Given the description of an element on the screen output the (x, y) to click on. 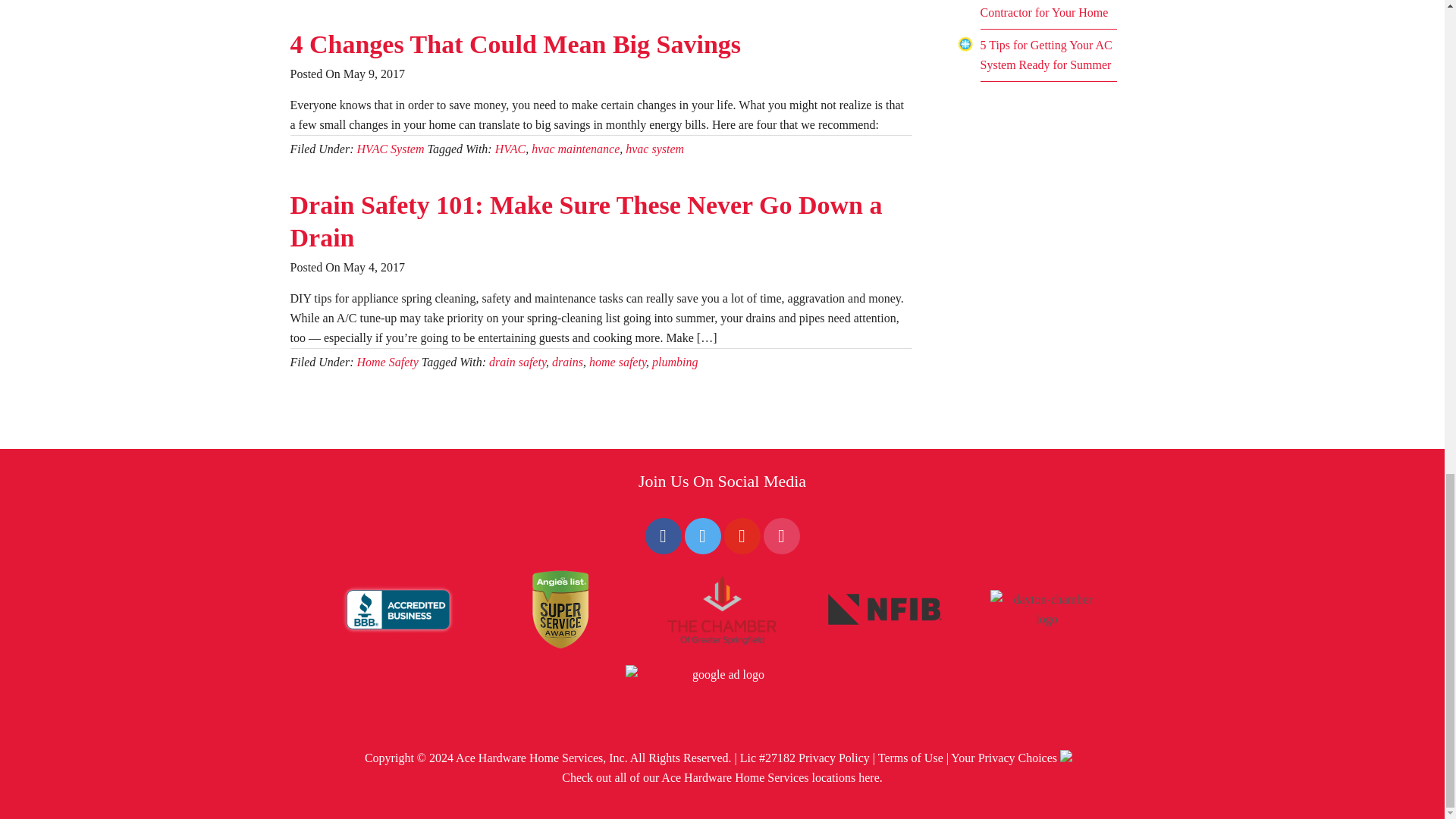
Twitter (702, 534)
Default Label (741, 534)
Facebook (663, 534)
